Given the description of an element on the screen output the (x, y) to click on. 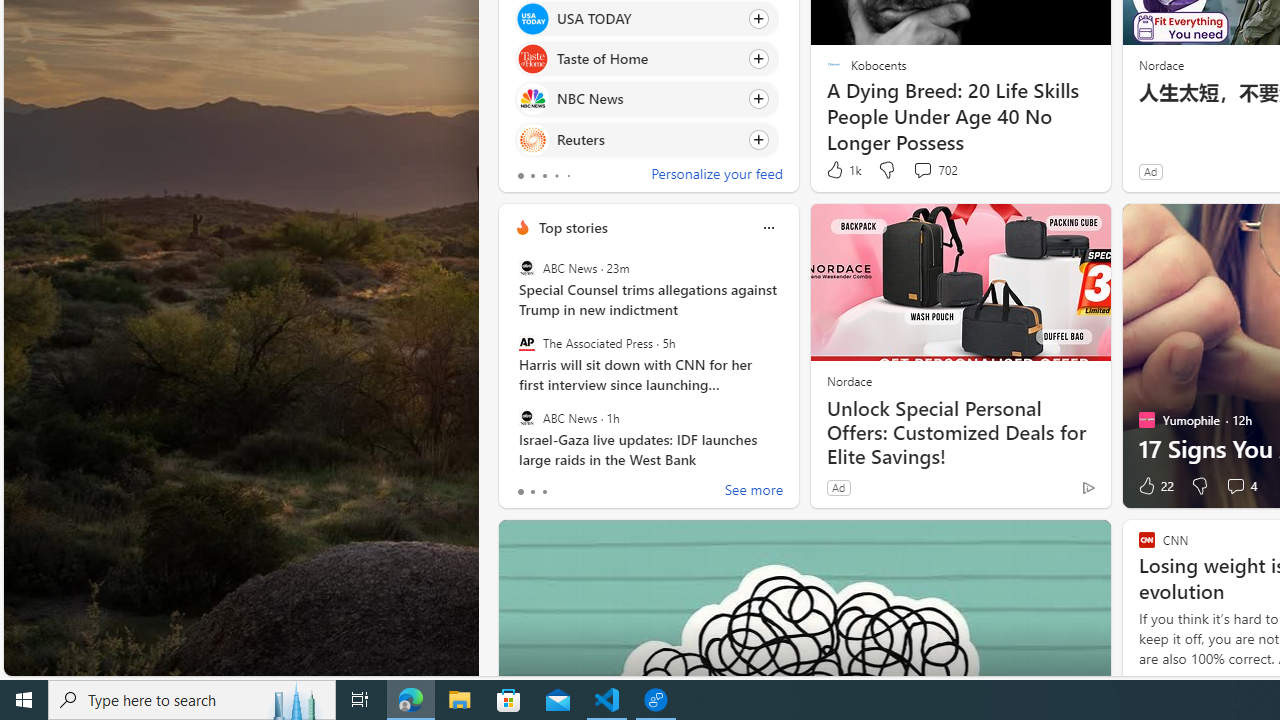
Class: icon-img (768, 228)
Ad Choice (1087, 487)
View comments 4 Comment (1234, 485)
tab-3 (556, 175)
View comments 4 Comment (1240, 485)
The Associated Press (526, 343)
tab-2 (543, 491)
ABC News (526, 417)
Click to follow source USA TODAY (646, 18)
Click to follow source NBC News (646, 99)
NBC News (532, 98)
tab-1 (532, 491)
